Given the description of an element on the screen output the (x, y) to click on. 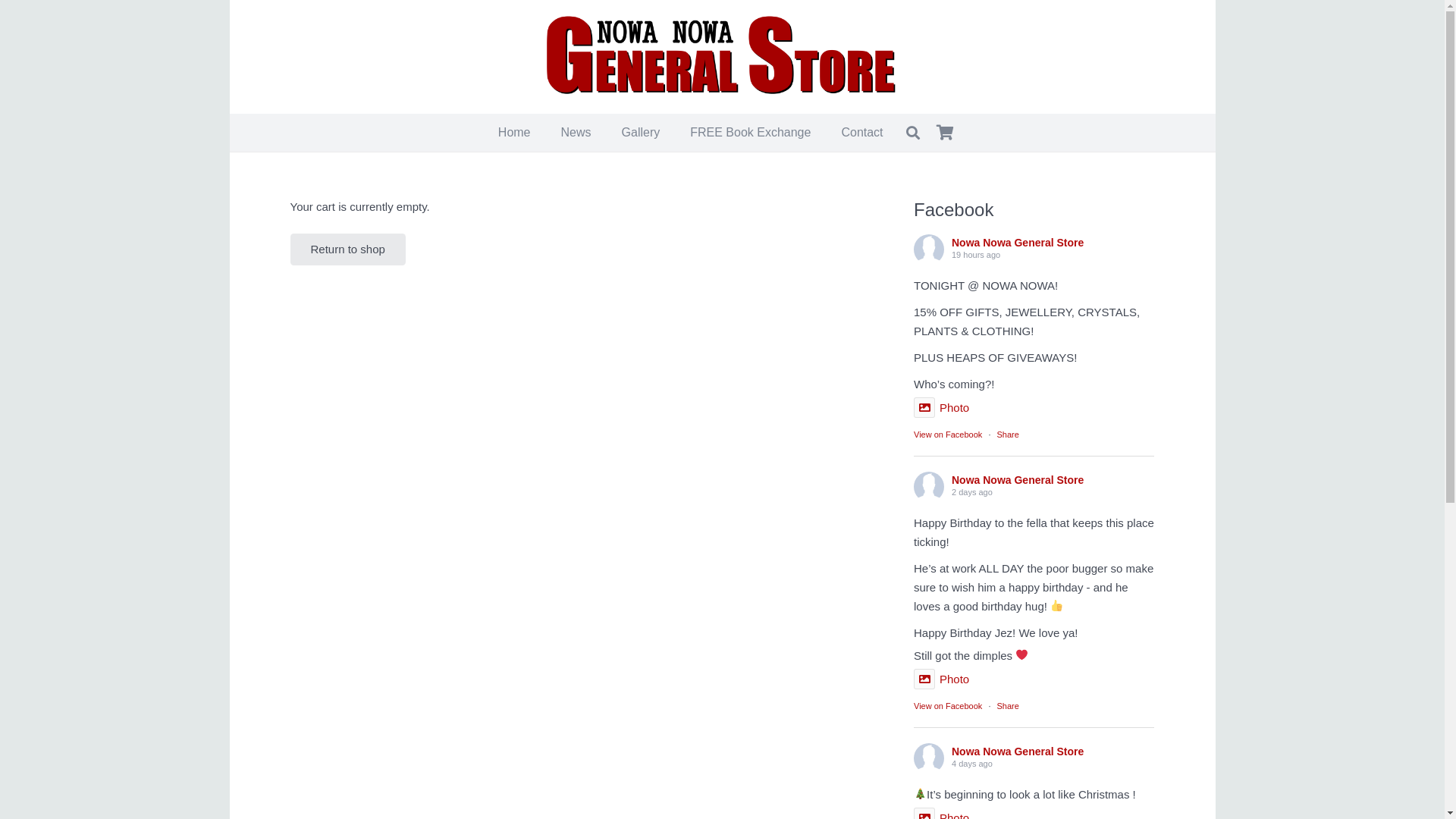
Nowa Nowa General Store Element type: text (1017, 479)
Photo Element type: text (941, 407)
Nowa Nowa General Store Element type: text (1017, 751)
View on Facebook Element type: text (947, 434)
Gallery Element type: text (640, 132)
0 Element type: text (944, 132)
View on Facebook Element type: text (947, 705)
Home Element type: text (514, 132)
News Element type: text (576, 132)
Nowa Nowa General Store Element type: text (1017, 242)
Return to shop Element type: text (346, 249)
Contact Element type: text (861, 132)
Share Element type: text (1007, 705)
FREE Book Exchange Element type: text (749, 132)
Photo Element type: text (941, 678)
Share Element type: text (1007, 434)
